Given the description of an element on the screen output the (x, y) to click on. 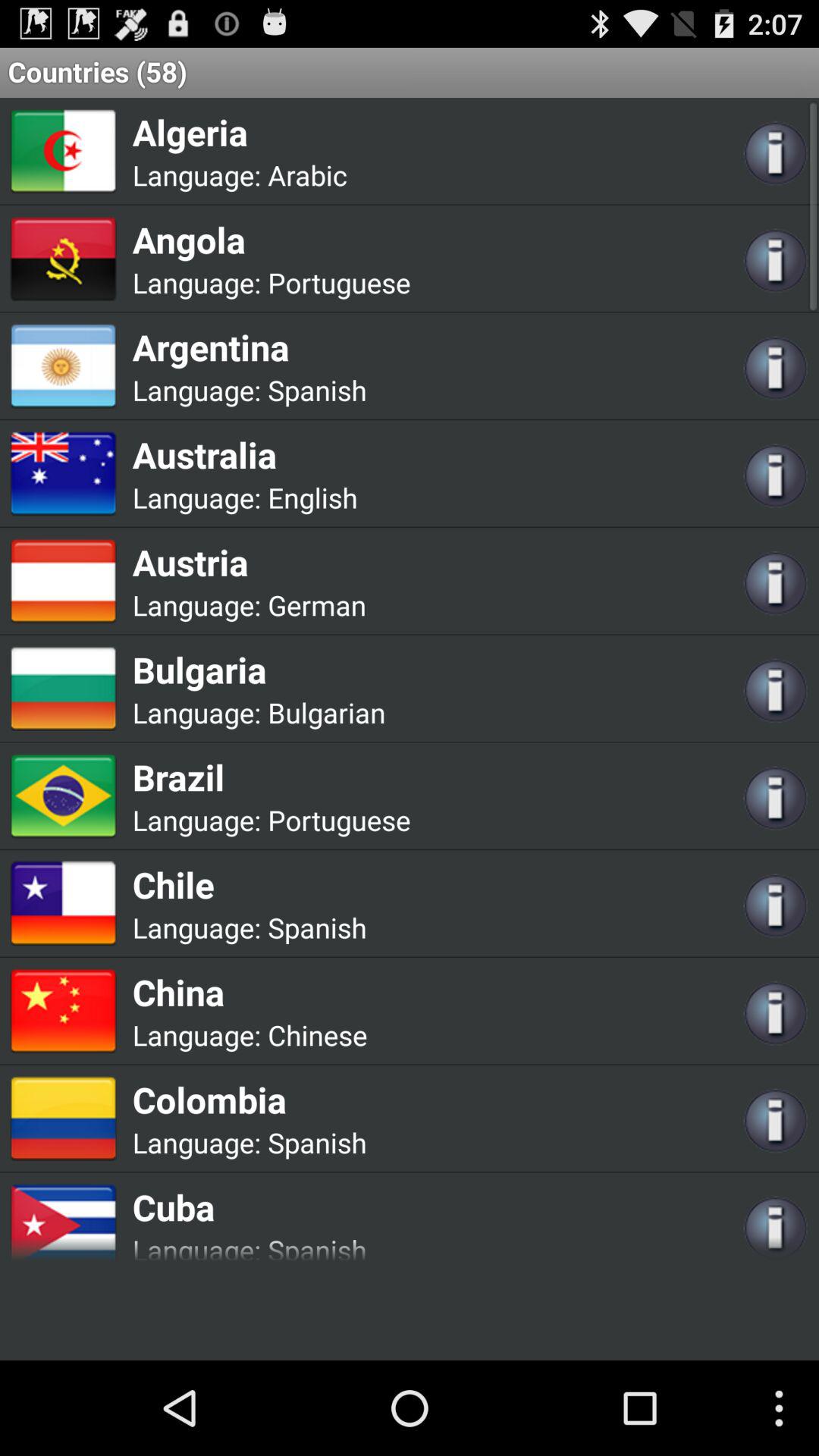
choose app above language:  item (271, 239)
